Given the description of an element on the screen output the (x, y) to click on. 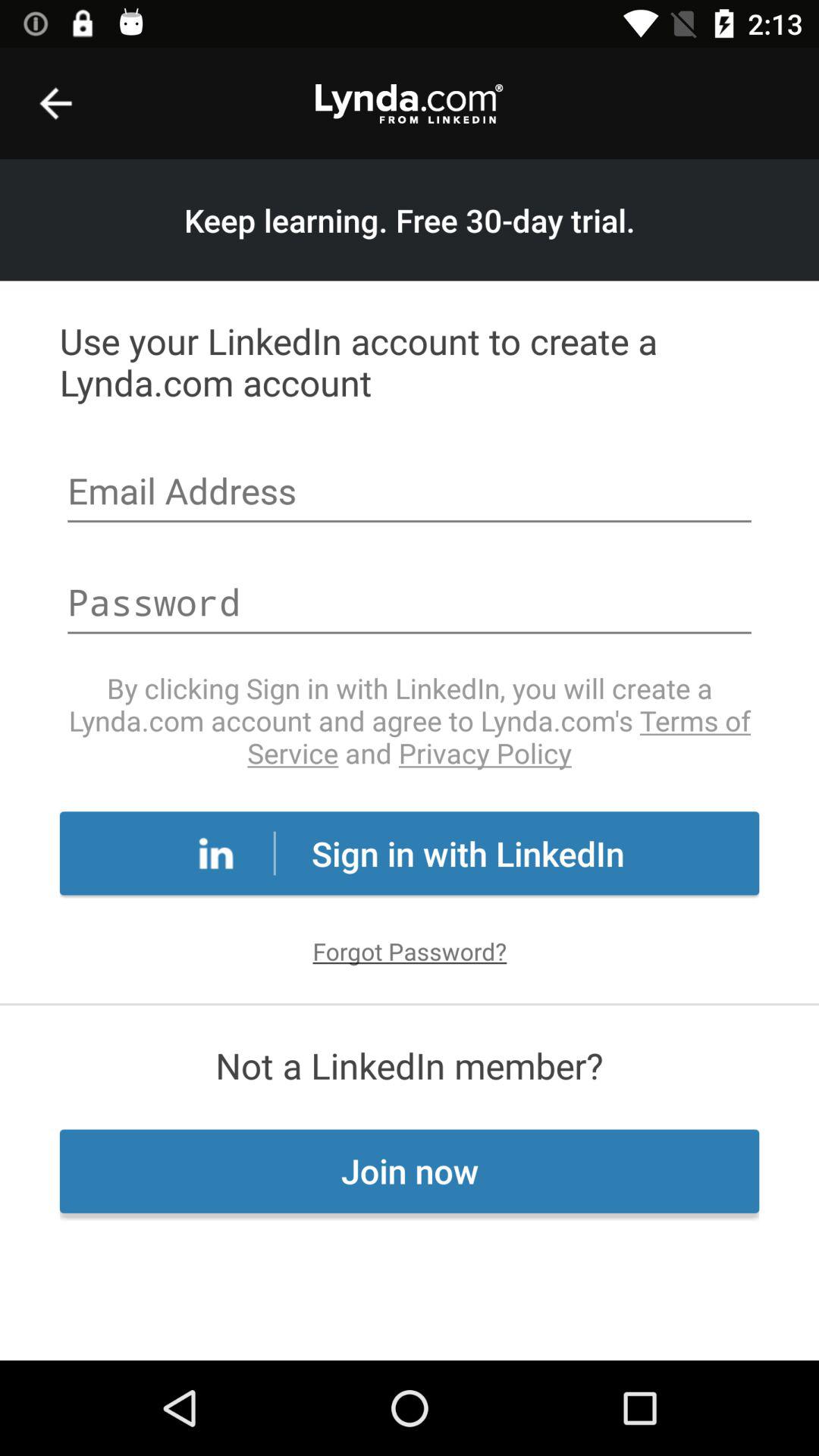
tap the item below the not a linkedin icon (409, 1171)
